Given the description of an element on the screen output the (x, y) to click on. 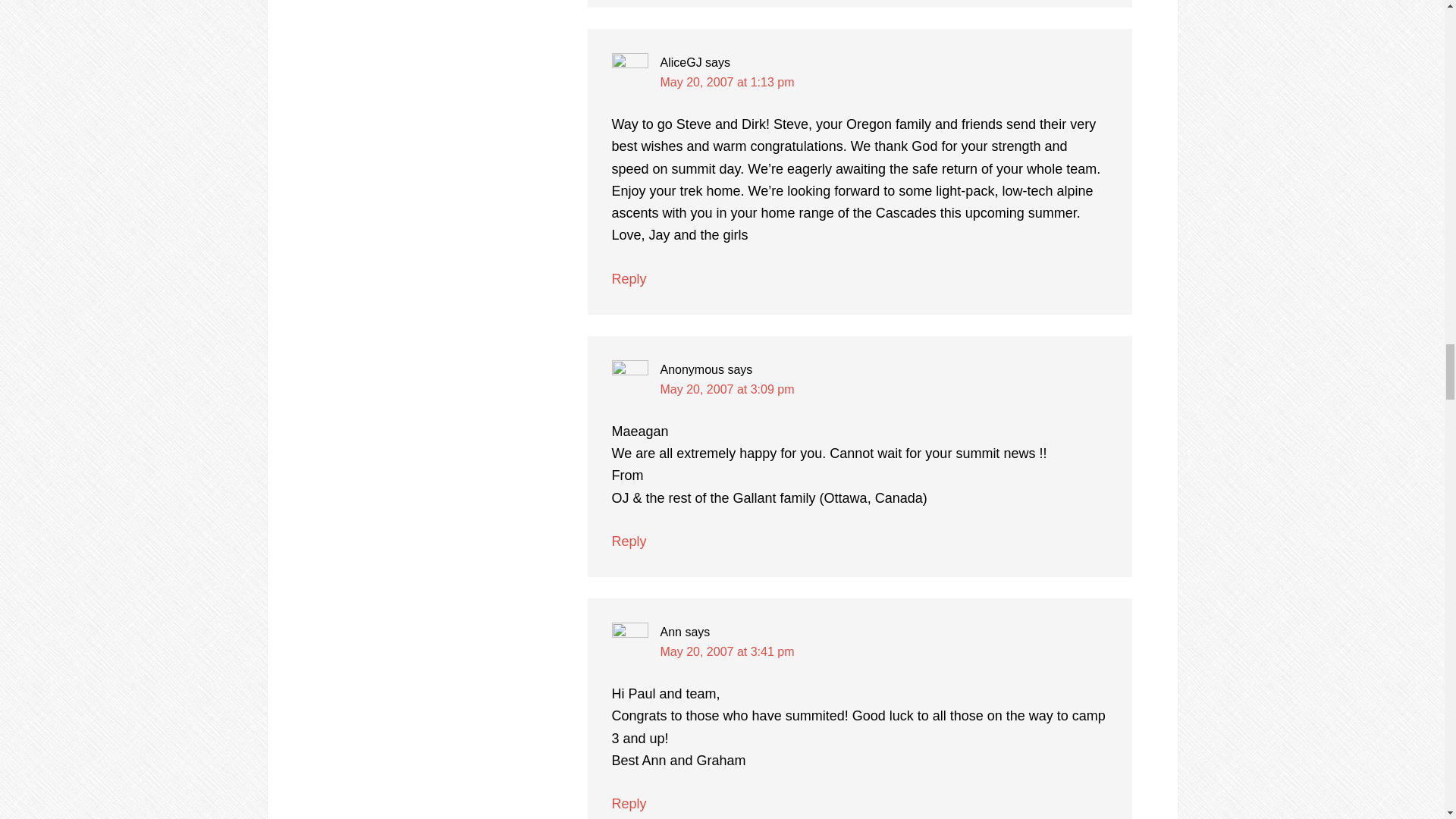
Reply (628, 278)
May 20, 2007 at 1:13 pm (726, 82)
May 20, 2007 at 3:09 pm (726, 389)
Reply (628, 803)
Reply (628, 540)
May 20, 2007 at 3:41 pm (726, 651)
